Given the description of an element on the screen output the (x, y) to click on. 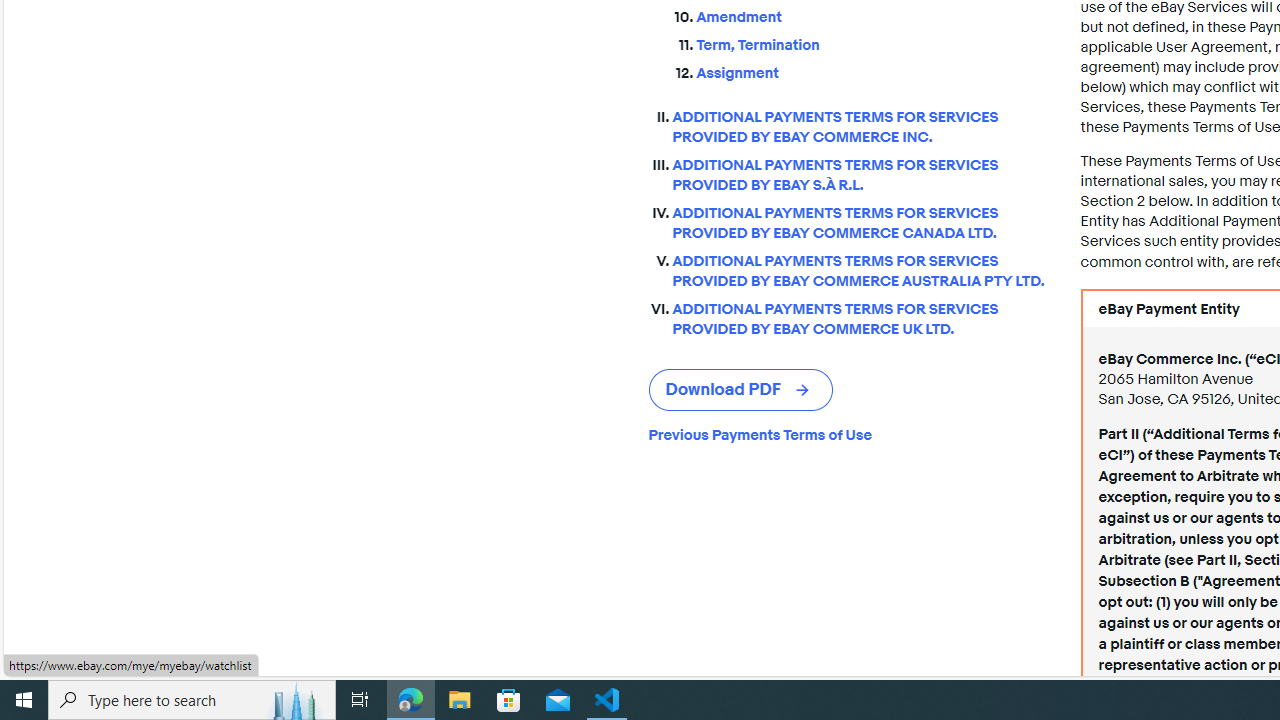
Assignment (872, 69)
